Given the description of an element on the screen output the (x, y) to click on. 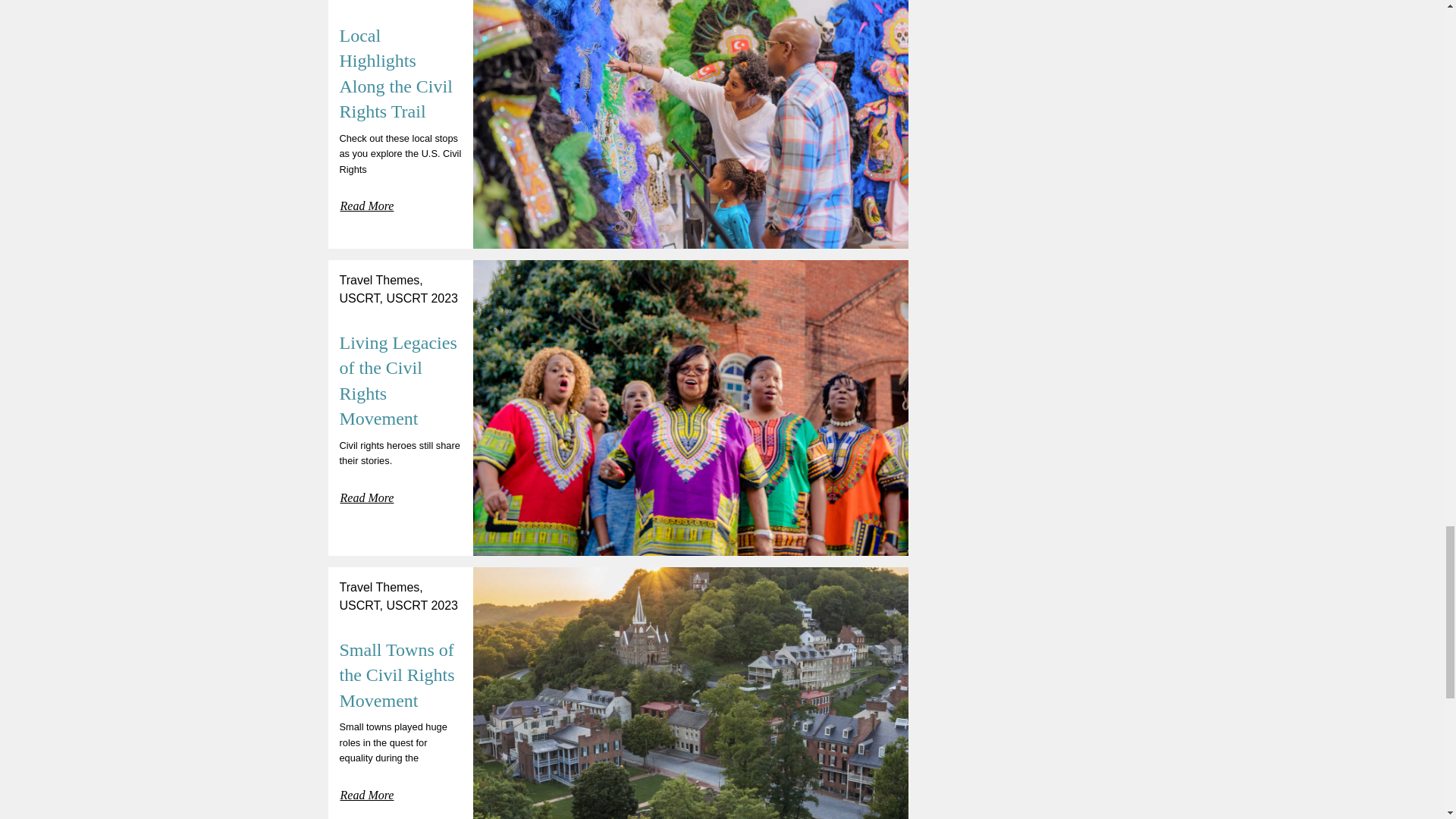
Living Legacies of the Civil Rights Movement (398, 380)
Small Towns of the Civil Rights Movement (396, 674)
Local Highlights Along the Civil Rights Trail (395, 73)
